Given the description of an element on the screen output the (x, y) to click on. 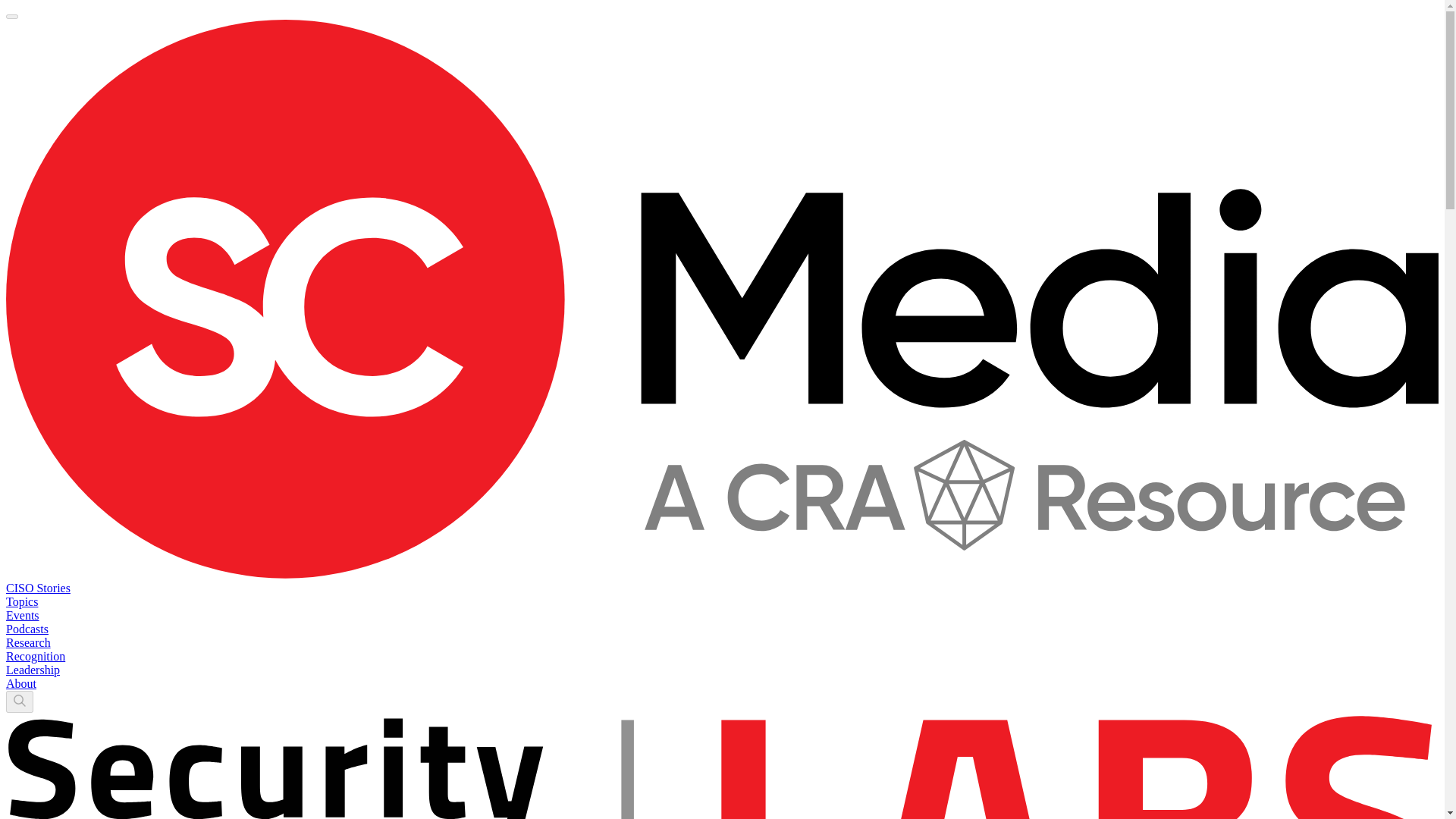
Research (27, 642)
Events (22, 615)
About (20, 683)
Leadership (32, 669)
CISO Stories (37, 587)
Podcasts (26, 628)
Recognition (35, 656)
Topics (21, 601)
